Given the description of an element on the screen output the (x, y) to click on. 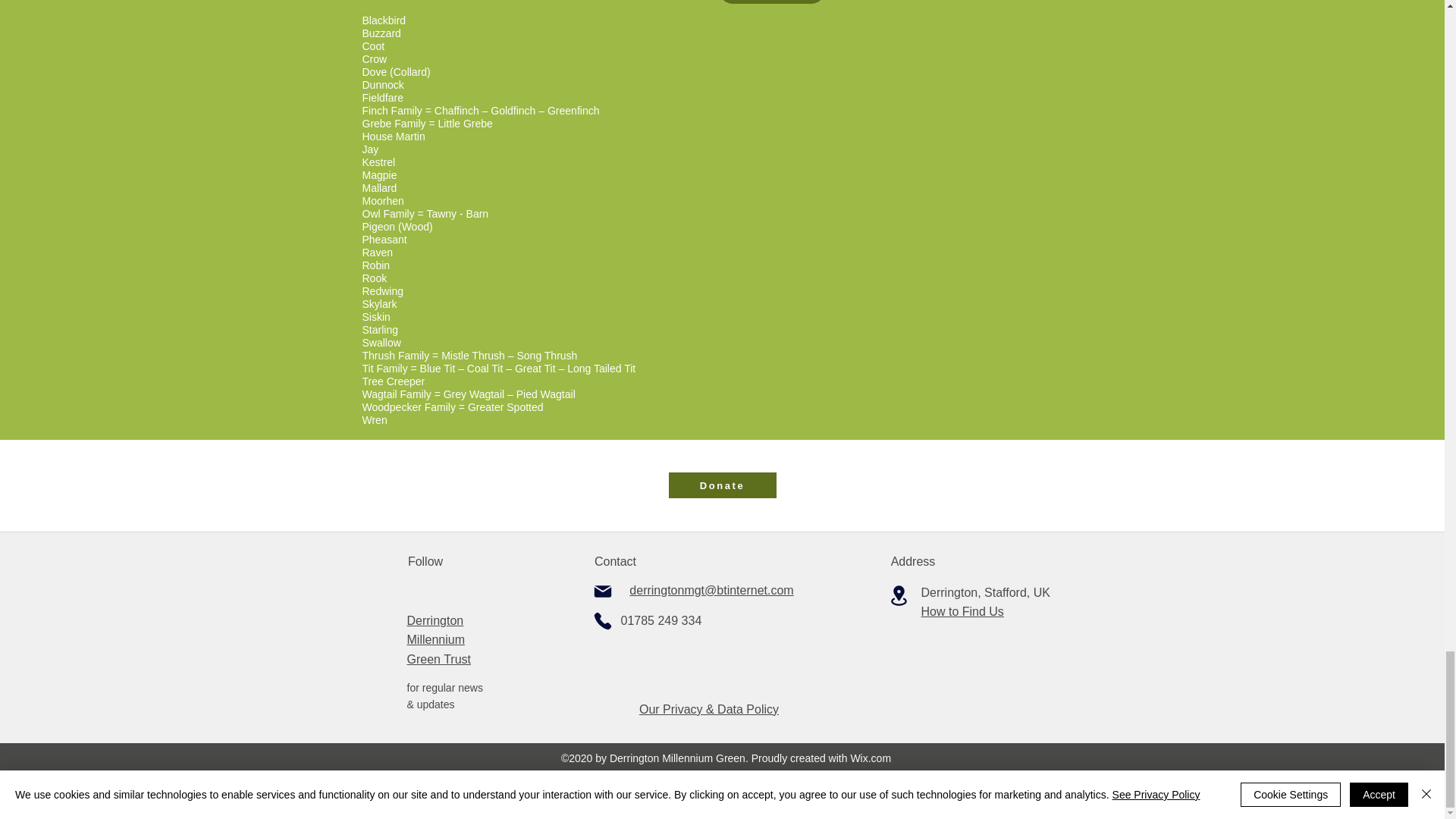
Derrington Millennium Green Trust (438, 639)
Birds PDF (771, 2)
Donate (722, 484)
